Given the description of an element on the screen output the (x, y) to click on. 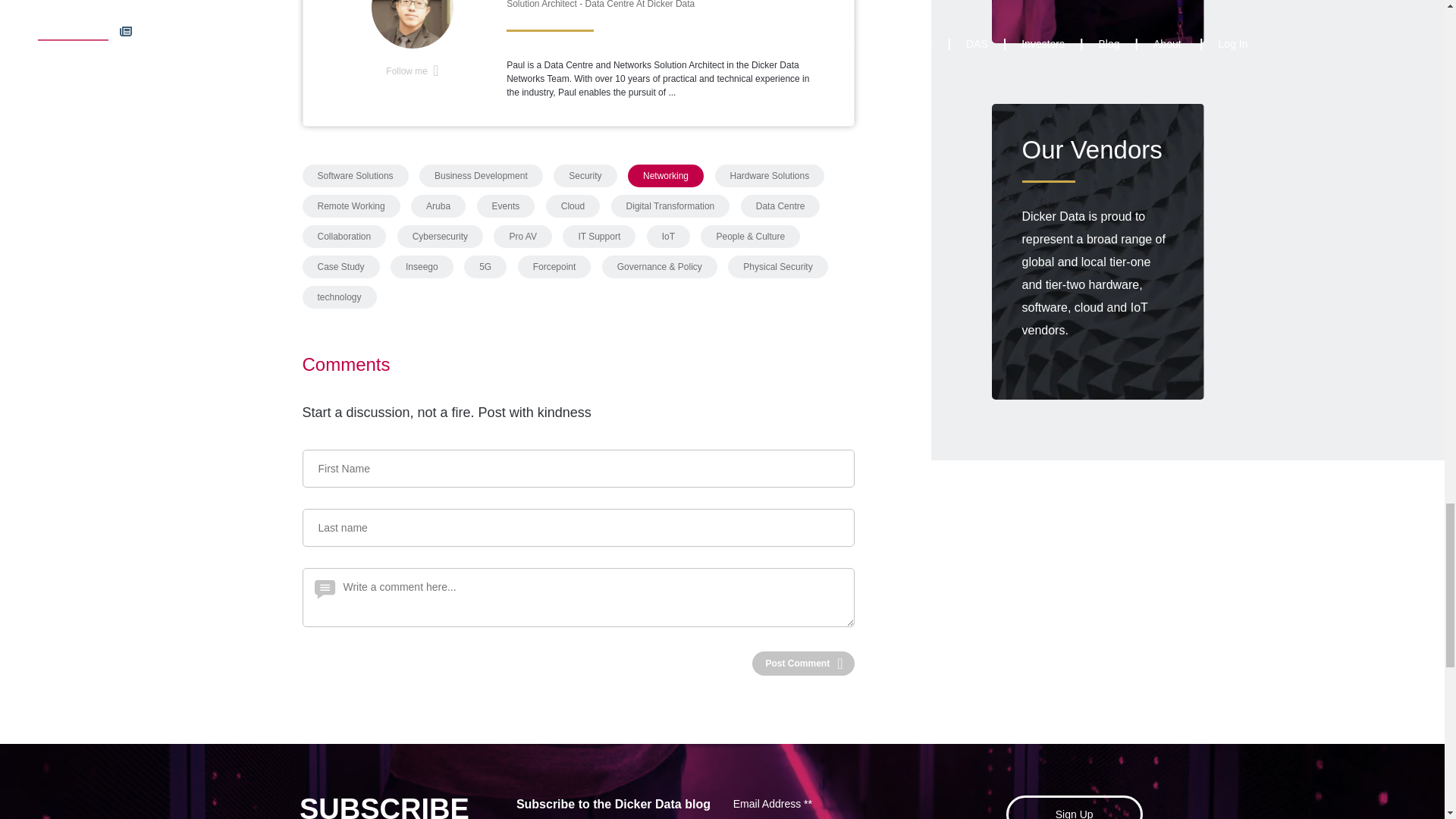
Sign Up (1074, 807)
Follow me (411, 70)
Post Comment (800, 663)
